Given the description of an element on the screen output the (x, y) to click on. 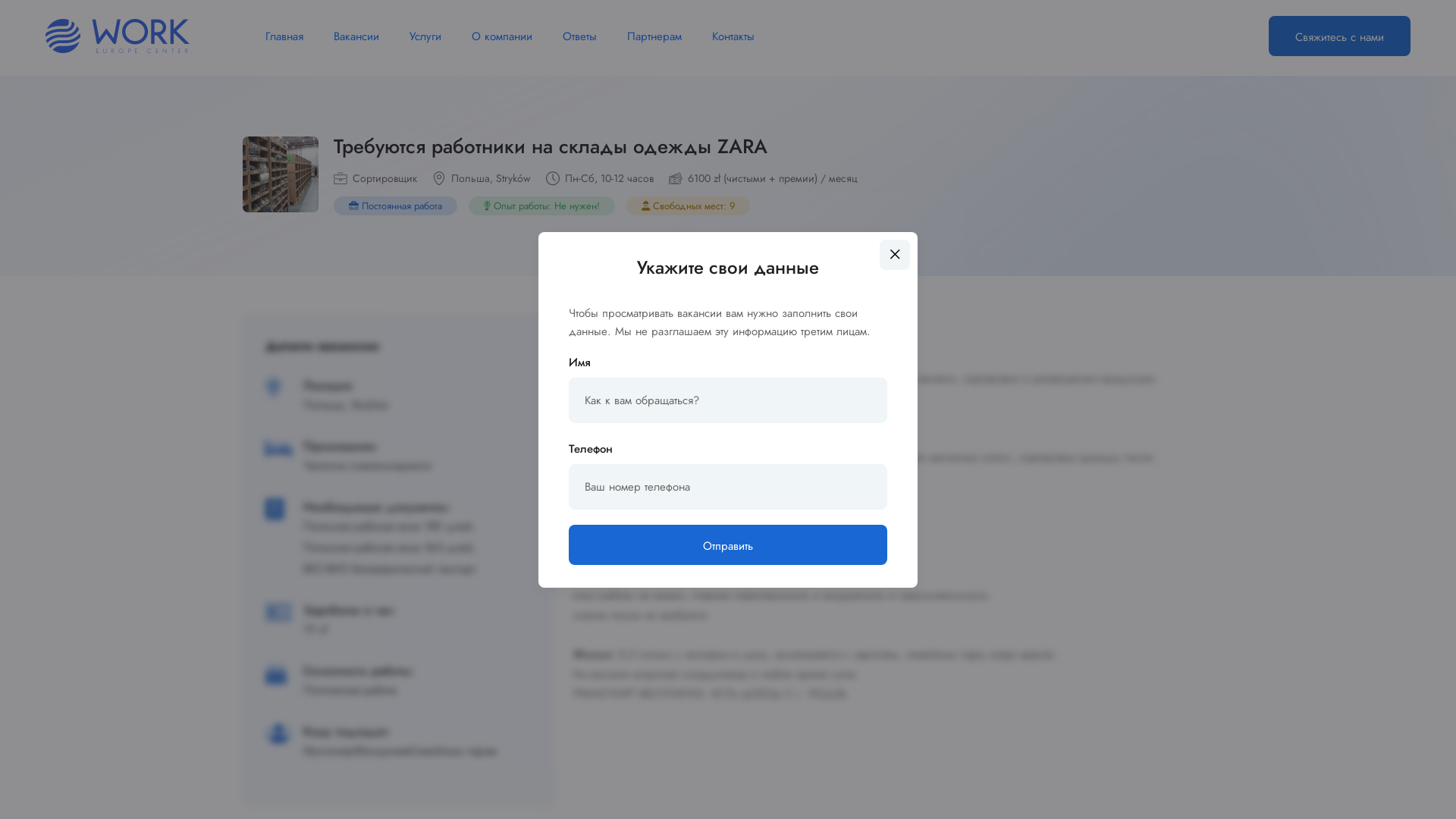
Close Element type: text (894, 254)
